Given the description of an element on the screen output the (x, y) to click on. 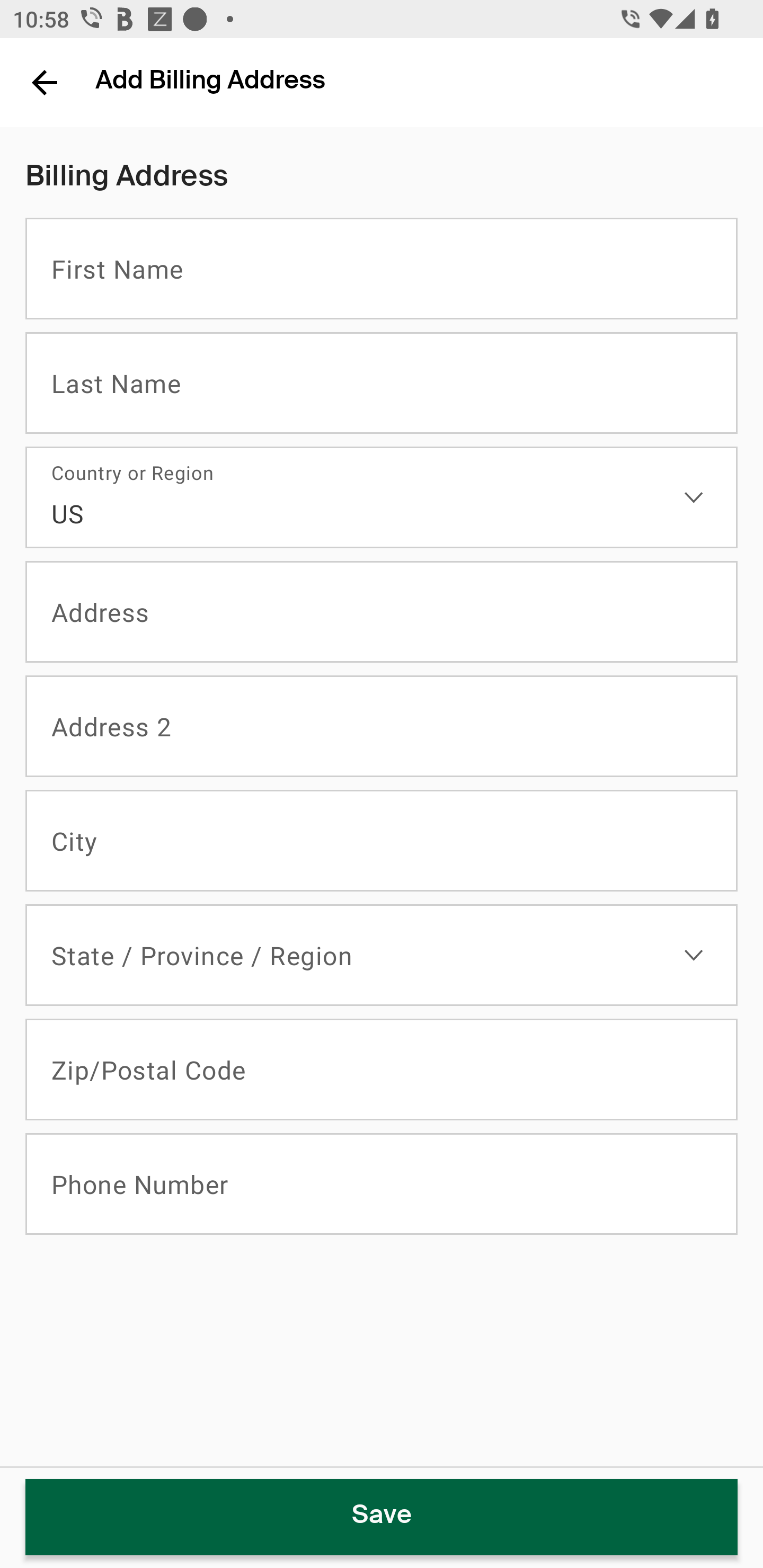
Navigate up (44, 82)
First Name (381, 268)
Last Name (381, 383)
Address (381, 612)
Address 2 (381, 726)
City (381, 841)
Zip/Postal Code (381, 1070)
Phone Number (381, 1184)
Save (381, 1516)
